Given the description of an element on the screen output the (x, y) to click on. 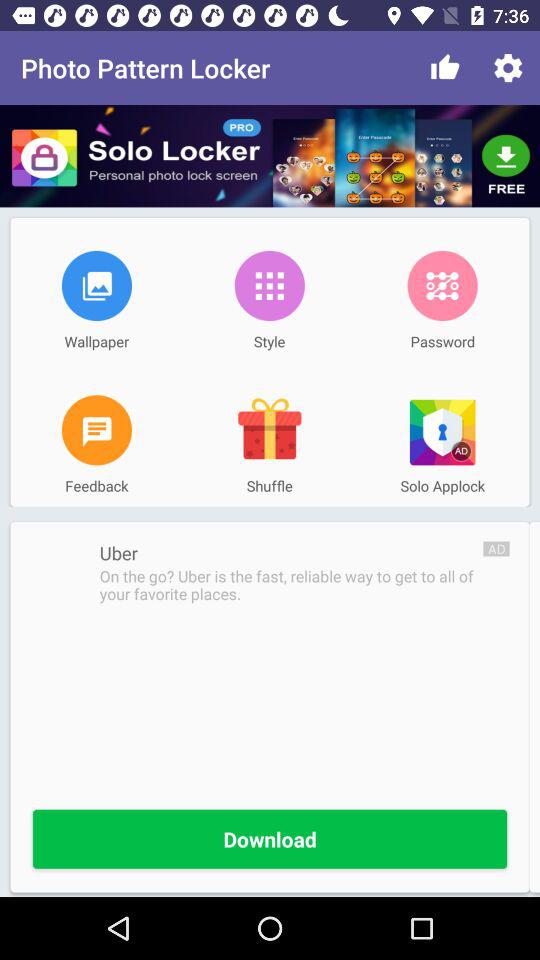
choose item next to the shuffle (96, 430)
